Given the description of an element on the screen output the (x, y) to click on. 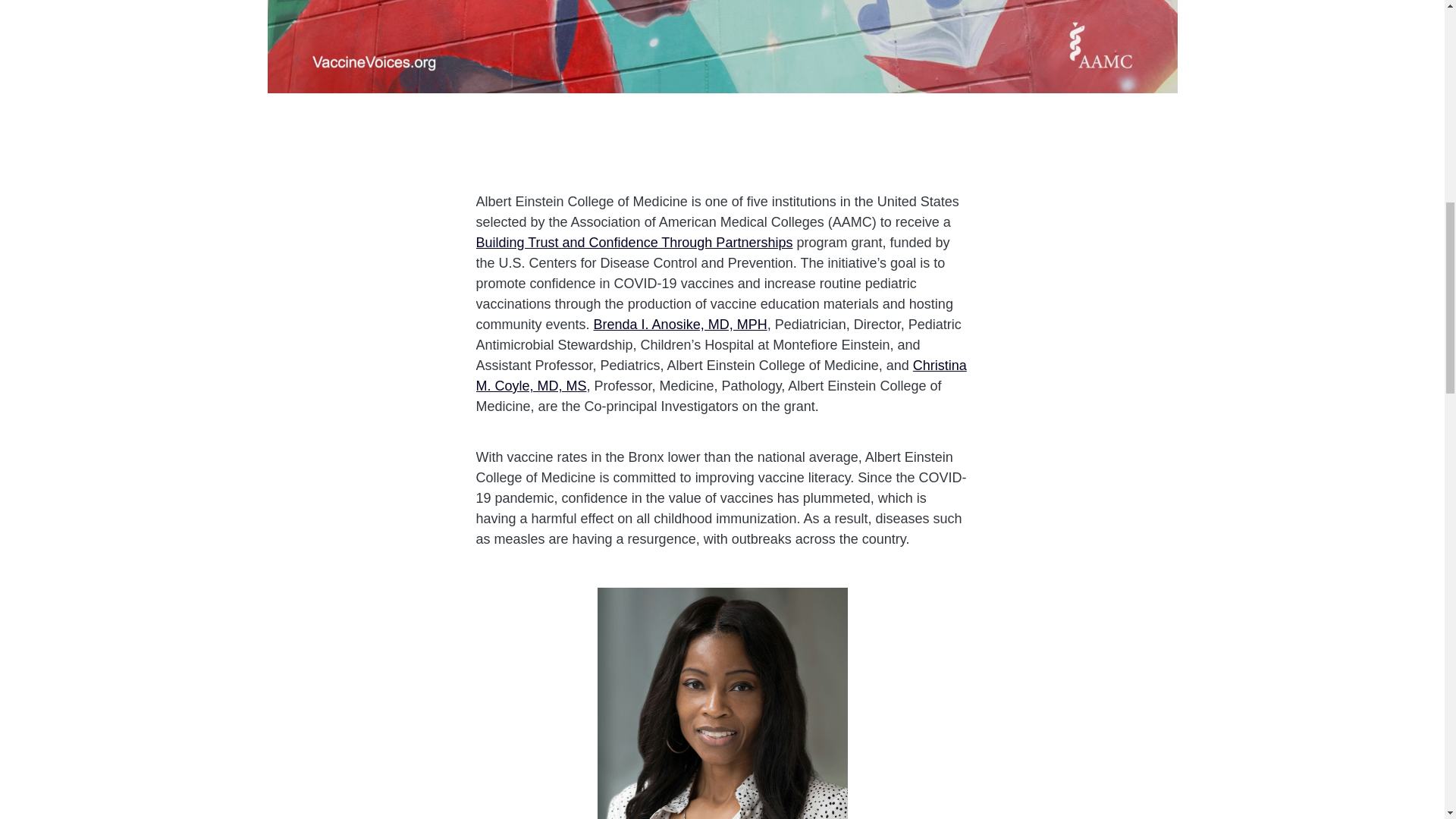
Christina M. Coyle, MD, MS (721, 375)
Share to Facebook (689, 153)
Share to X (711, 153)
Share to Email (753, 153)
Brenda I. Anosike, MD, MPH (680, 324)
Building Trust and Confidence Through Partnerships (634, 242)
Share to Linkedin (732, 153)
